Given the description of an element on the screen output the (x, y) to click on. 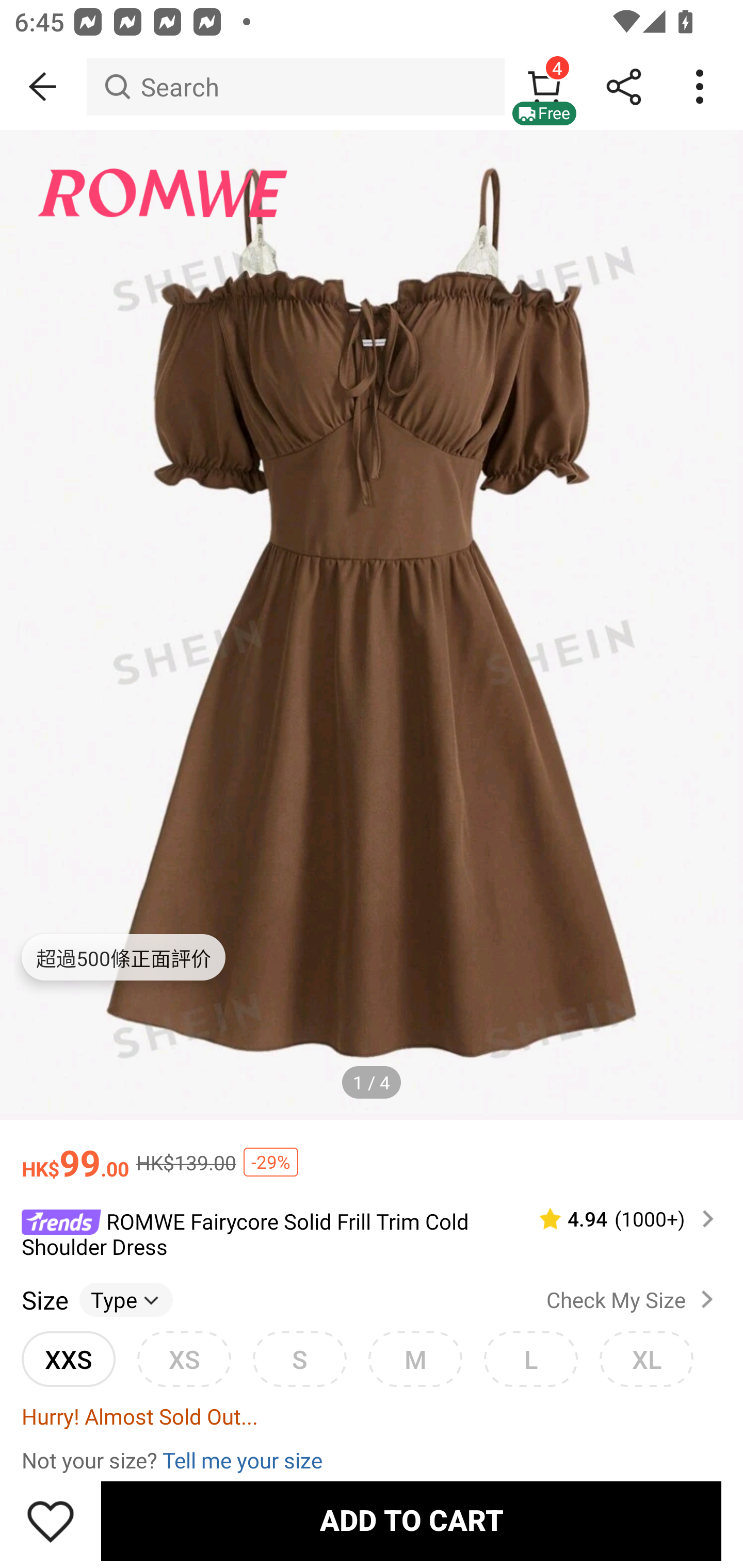
BACK (43, 86)
4 Free (543, 87)
Search (295, 87)
1 / 4 (371, 1082)
HK$99.00 HK$139.00 -29% (371, 1152)
4.94 (1000‎+) (617, 1219)
Size (44, 1299)
Type (126, 1299)
XXS XSunselected option (68, 1359)
XS S (184, 1359)
S M (299, 1359)
M L (415, 1359)
L XL (530, 1359)
XL (646, 1359)
Hurry! Almost Sold Out... (371, 1415)
Not your size? Tell me your size (371, 1459)
ADD TO CART (411, 1520)
Save (50, 1520)
